Given the description of an element on the screen output the (x, y) to click on. 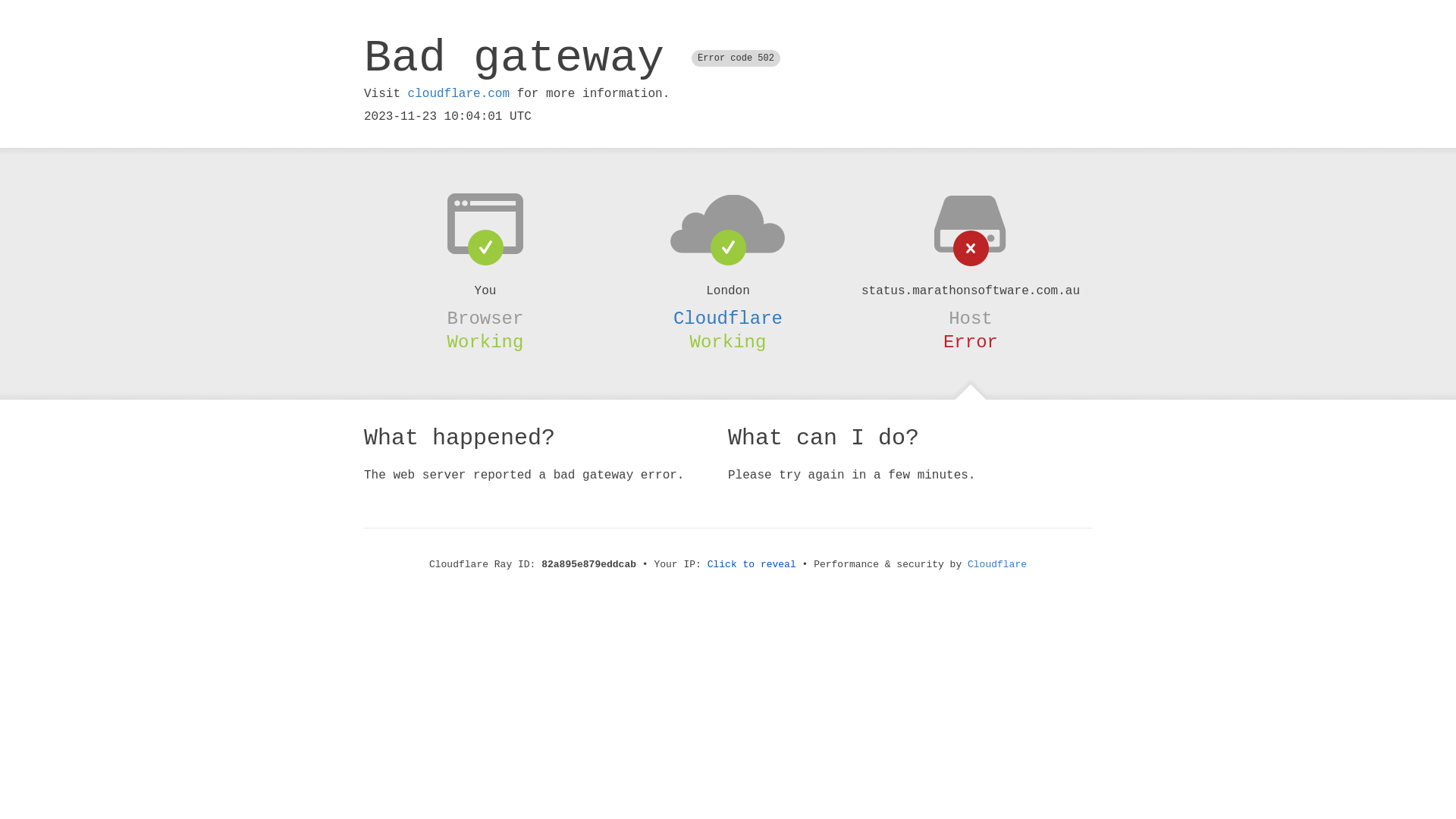
Cloudflare Element type: text (996, 564)
Click to reveal Element type: text (751, 564)
cloudflare.com Element type: text (458, 93)
Cloudflare Element type: text (727, 318)
